Given the description of an element on the screen output the (x, y) to click on. 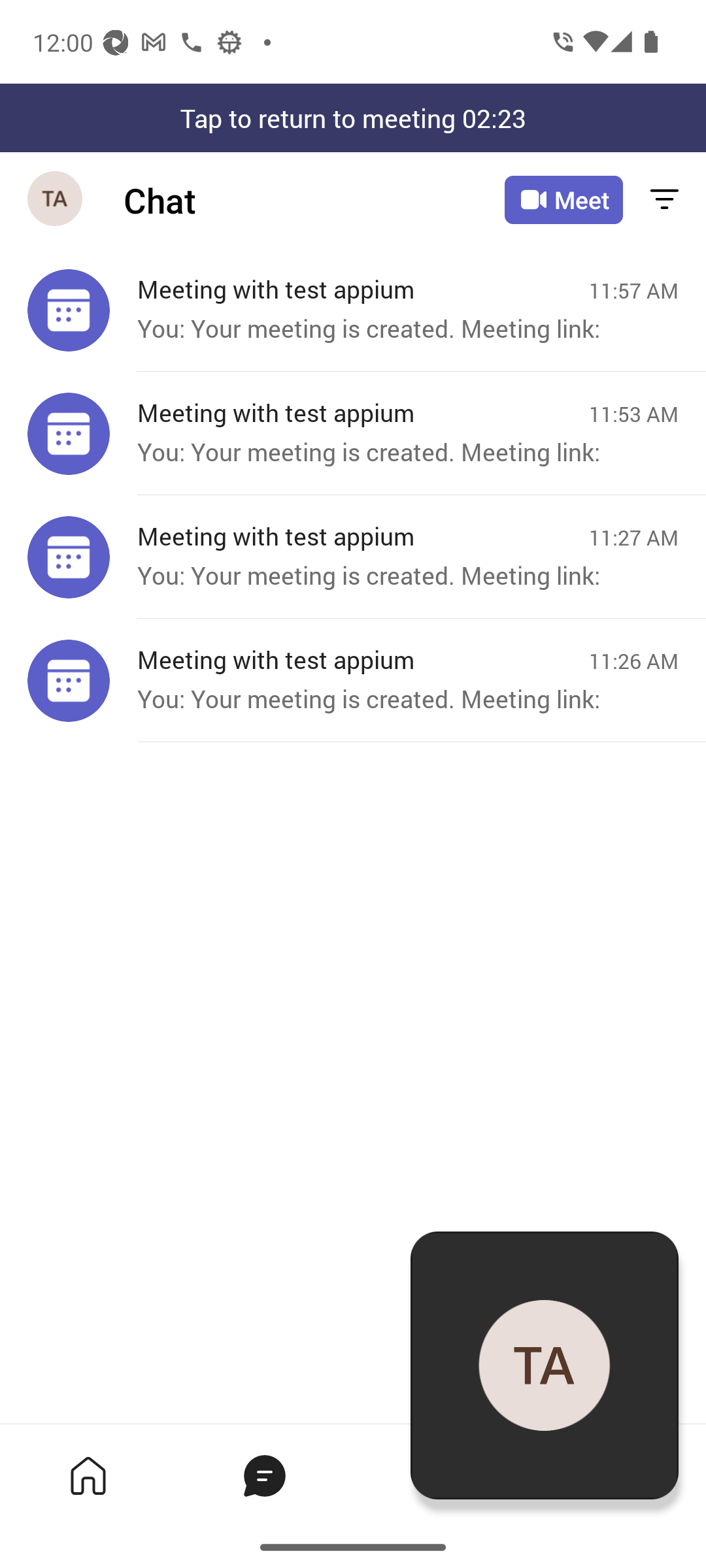
Tap to return to meeting 02:23 (353, 117)
Filter chat messages (664, 199)
Navigation (56, 199)
Meet Meet now or join with an ID (563, 199)
Home tab,1 of 4, not selected (88, 1475)
Chat tab, 2 of 4 (264, 1475)
